Given the description of an element on the screen output the (x, y) to click on. 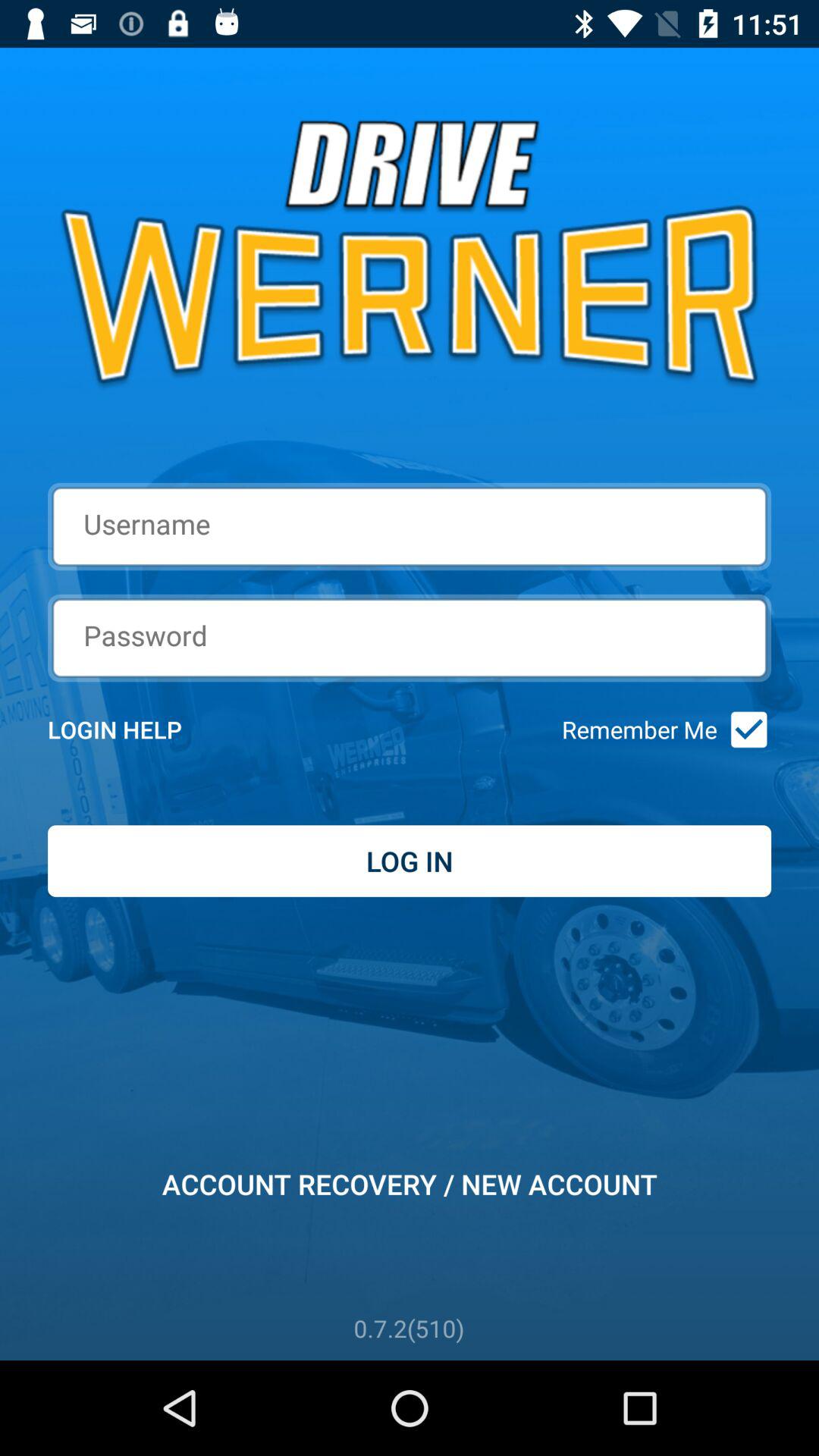
choose the icon below the login help icon (409, 860)
